Given the description of an element on the screen output the (x, y) to click on. 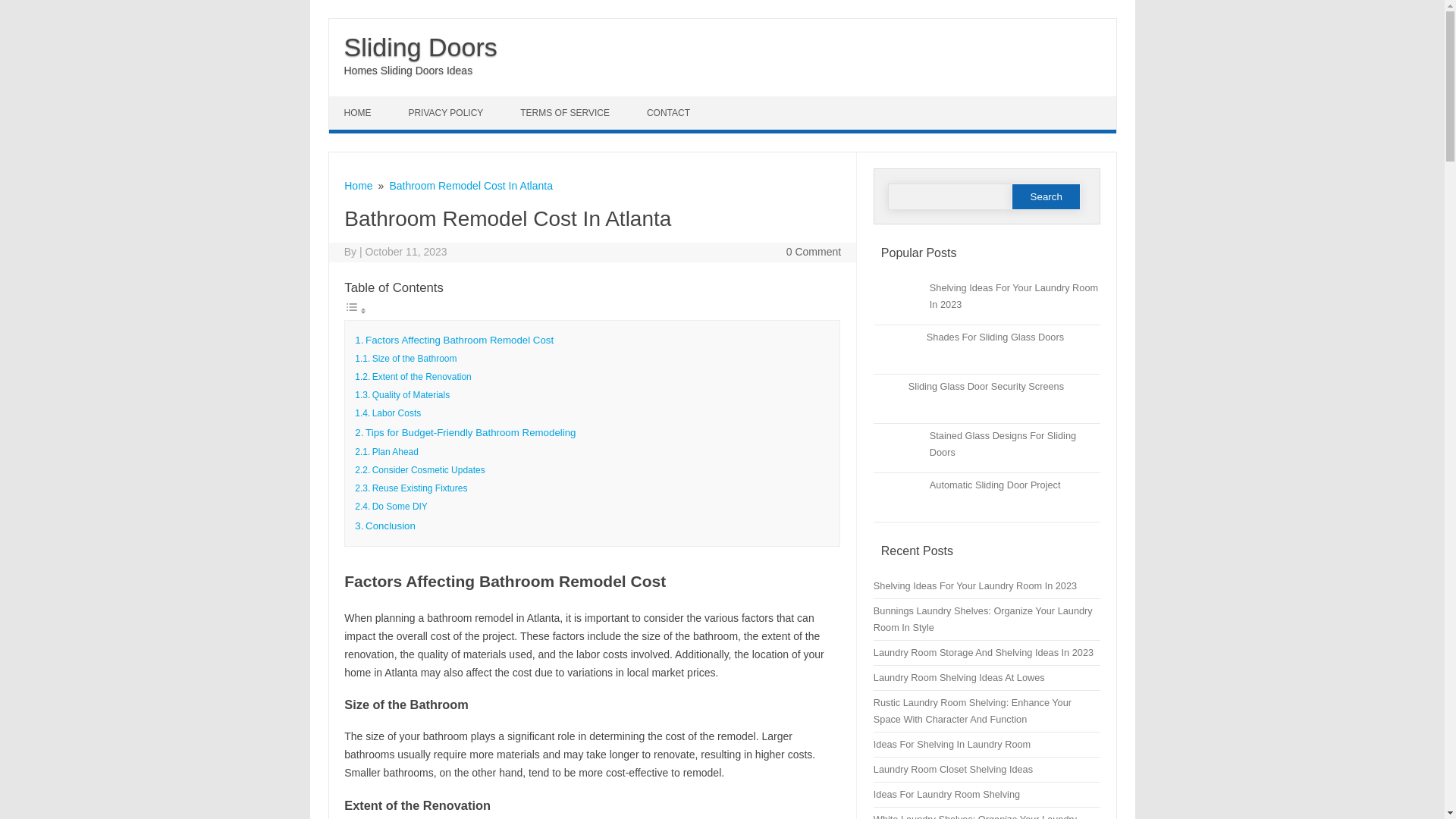
Skip to content (363, 101)
Size of the Bathroom (414, 357)
Consider Cosmetic Updates (428, 470)
0 Comment (813, 251)
Quality of Materials (410, 394)
Plan Ahead (395, 451)
Reuse Existing Fixtures (419, 488)
TERMS OF SERVICE (566, 112)
Extent of the Renovation (421, 376)
Search (1045, 196)
Tips for Budget-Friendly Bathroom Remodeling (470, 432)
Bathroom Remodel Cost In Atlanta (470, 185)
CONTACT (670, 112)
HOME (359, 112)
Home (357, 185)
